Given the description of an element on the screen output the (x, y) to click on. 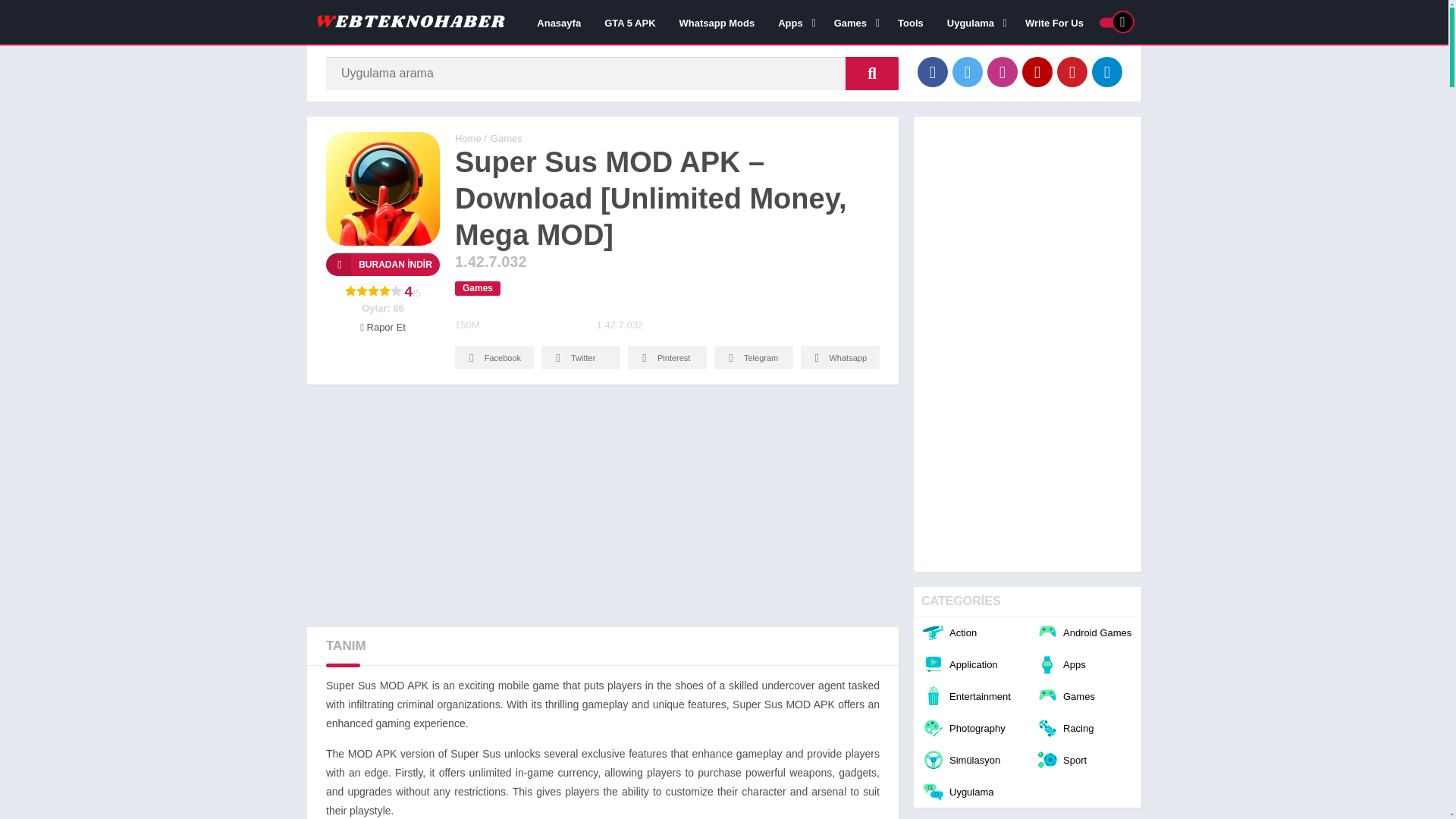
Twitter (967, 71)
Instagram (1002, 71)
Pinterest (1072, 71)
Webteknohaber (467, 138)
Facebook (932, 71)
Telegram (1107, 71)
Uygulama arama (871, 73)
YouTube (1037, 71)
